Given the description of an element on the screen output the (x, y) to click on. 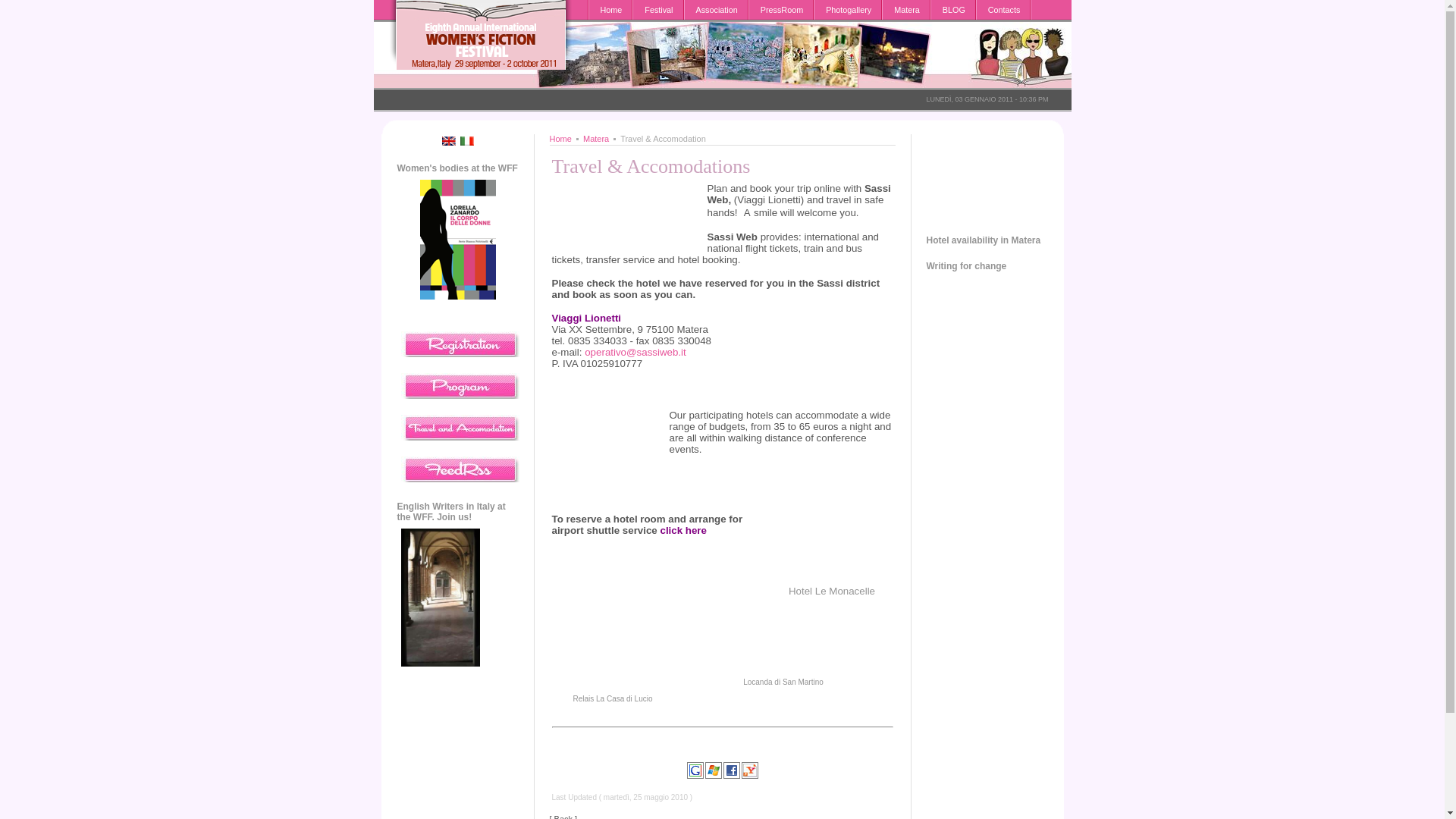
Facebook! (731, 770)
Feed Rss (459, 469)
Image (831, 535)
Image (610, 428)
Registration (459, 344)
Matera (906, 9)
BLOG (953, 9)
doorway1.jpg (439, 597)
Image (612, 645)
Program (459, 385)
Association (716, 9)
Contacts (1004, 9)
Photogallery (847, 9)
